Given the description of an element on the screen output the (x, y) to click on. 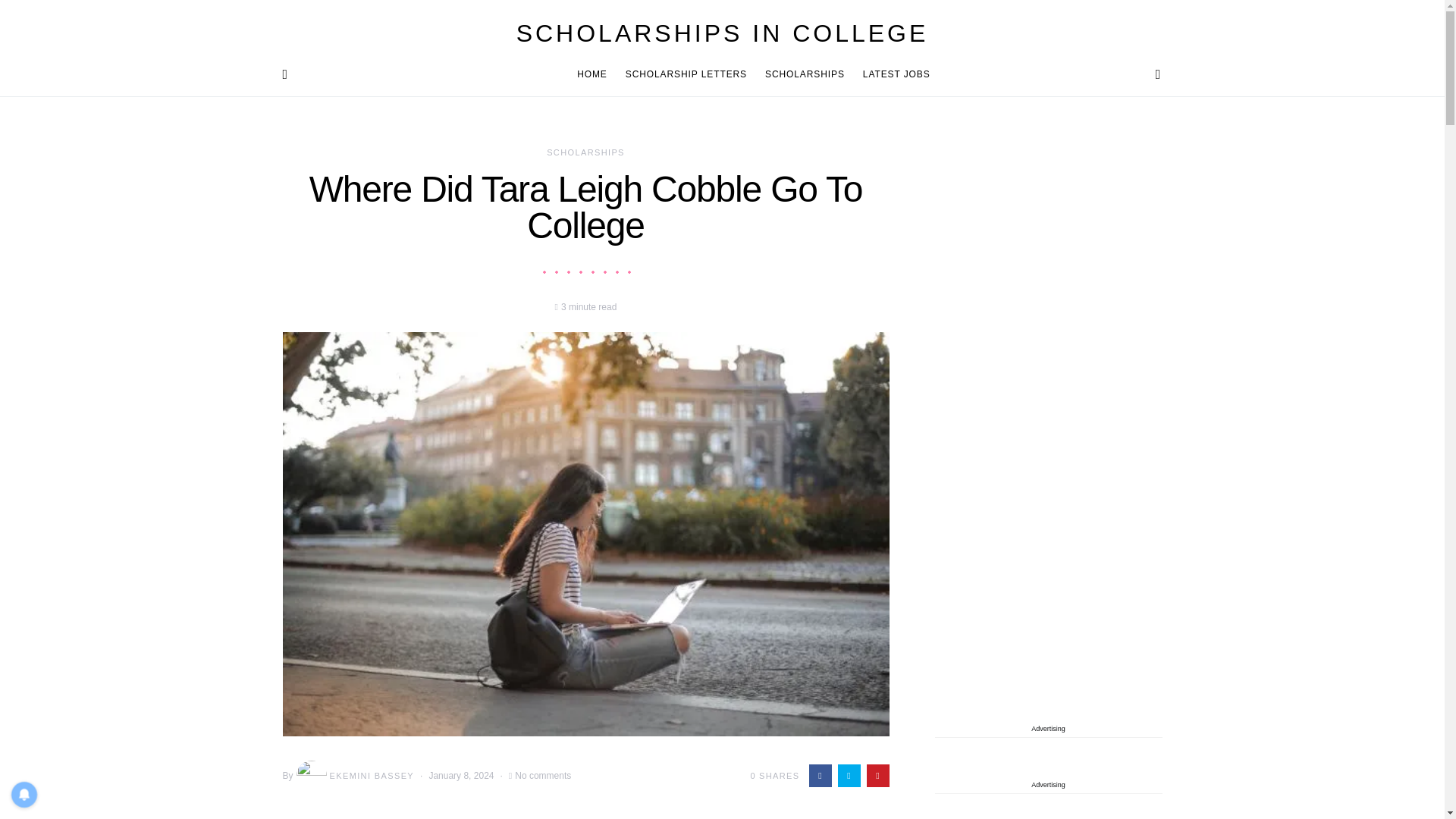
SCHOLARSHIPS (804, 74)
No comments (542, 775)
SCHOLARSHIPS (585, 152)
View all posts by Ekemini Bassey (354, 775)
SCHOLARSHIPS IN COLLEGE (722, 33)
HOME (595, 74)
LATEST JOBS (891, 74)
SCHOLARSHIP LETTERS (685, 74)
EKEMINI BASSEY (354, 775)
